Given the description of an element on the screen output the (x, y) to click on. 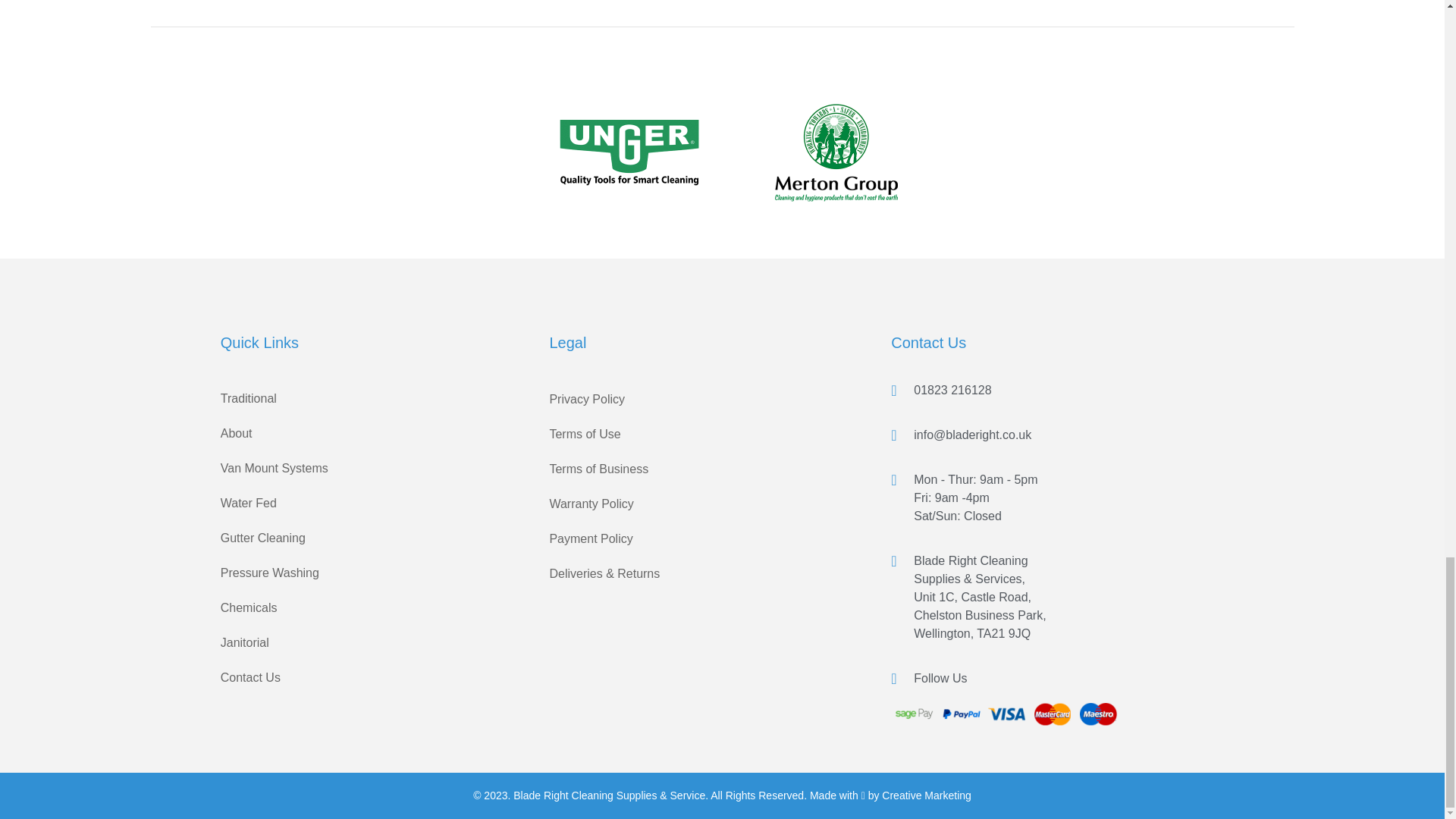
Merton Group Logo (836, 152)
Unger Logo (628, 152)
